Given the description of an element on the screen output the (x, y) to click on. 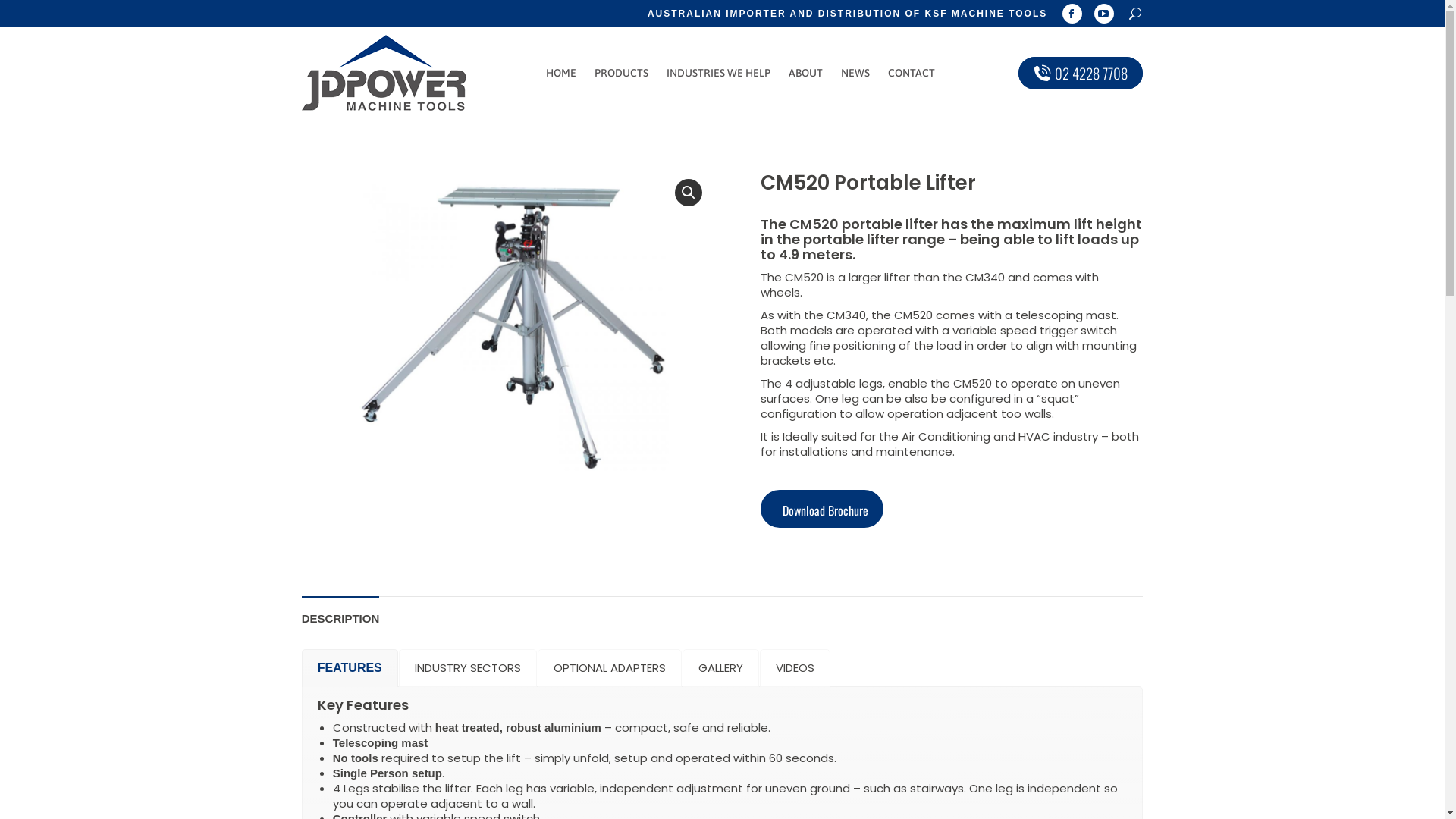
FEATURES Element type: text (349, 668)
INDUSTRY SECTORS Element type: text (467, 668)
ABOUT Element type: text (805, 72)
CONTACT Element type: text (911, 72)
Facebook page opens in new window Element type: text (1072, 13)
02 4228 7708 Element type: text (1080, 72)
Download Brochure Element type: text (820, 508)
PRODUCTS Element type: text (621, 72)
HOME Element type: text (560, 72)
520 Element type: hover (511, 328)
OPTIONAL ADAPTERS Element type: text (609, 668)
NEWS Element type: text (854, 72)
VIDEOS Element type: text (794, 668)
GALLERY Element type: text (720, 668)
DESCRIPTION Element type: text (340, 617)
INDUSTRIES WE HELP Element type: text (718, 72)
Go! Element type: text (22, 15)
YouTube page opens in new window Element type: text (1103, 13)
